Given the description of an element on the screen output the (x, y) to click on. 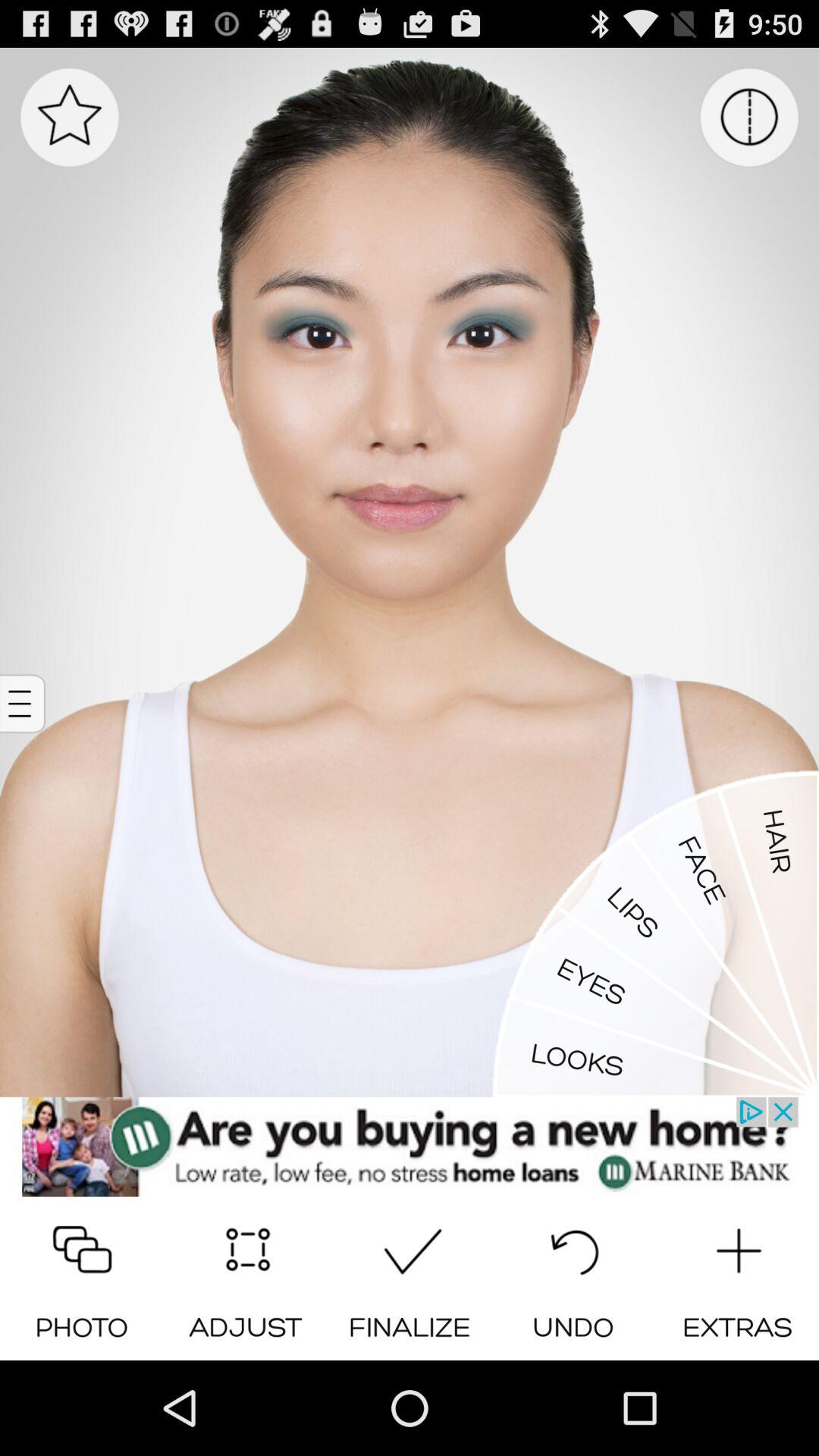
go to the marine bank website (409, 1146)
